Given the description of an element on the screen output the (x, y) to click on. 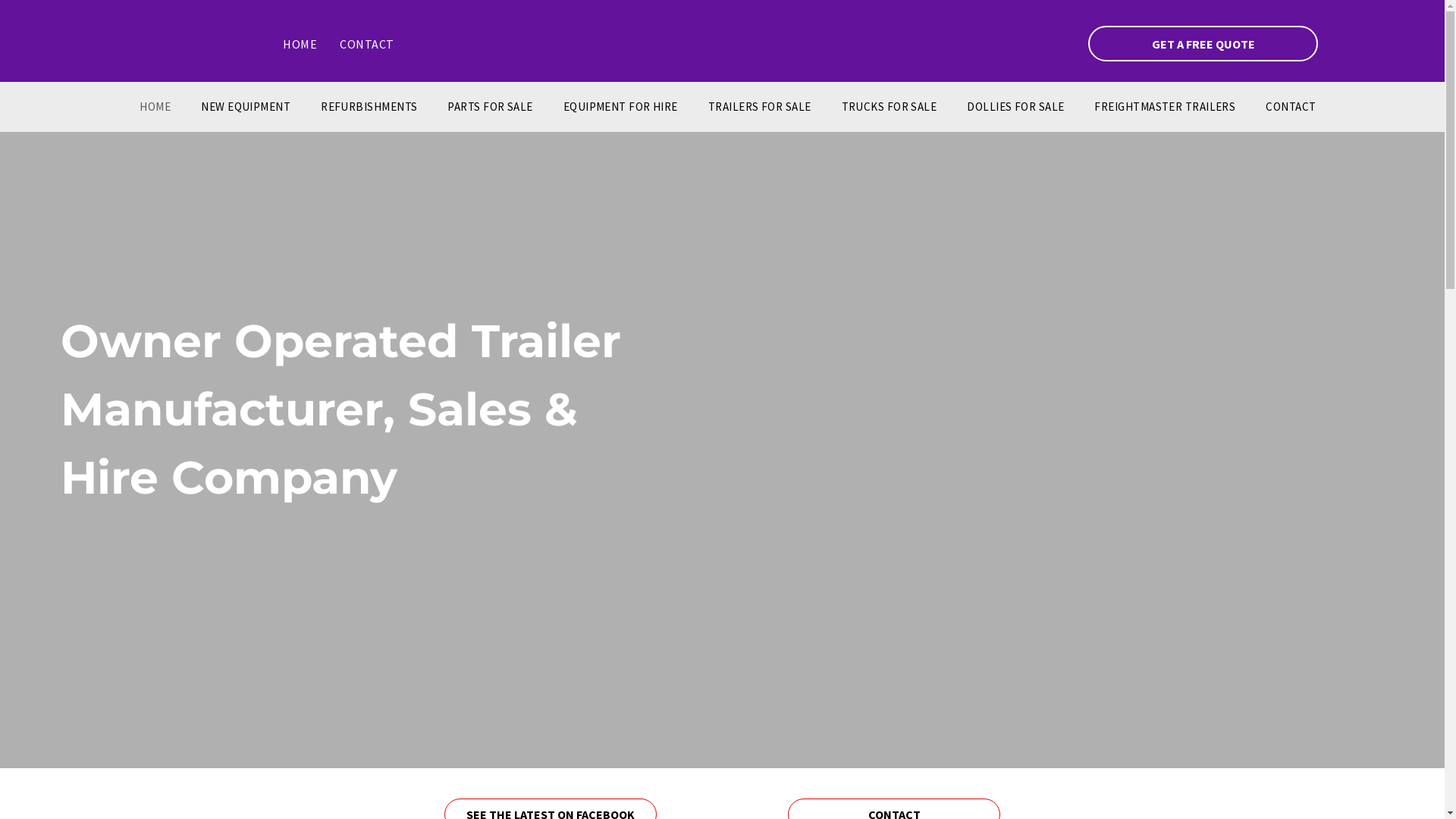
FREIGHTMASTER TRAILERS Element type: text (1164, 107)
HOME Element type: text (299, 43)
CONTACT Element type: text (366, 43)
PARTS FOR SALE Element type: text (489, 107)
REFURBISHMENTS Element type: text (368, 107)
CONTACT Element type: text (1290, 107)
EQUIPMENT FOR HIRE Element type: text (620, 107)
DOLLIES FOR SALE Element type: text (1015, 107)
NEW EQUIPMENT Element type: text (245, 107)
GET A FREE QUOTE Element type: text (1202, 43)
HOME Element type: text (154, 107)
TRAILERS FOR SALE Element type: text (759, 107)
TRUCKS FOR SALE Element type: text (889, 107)
